Given the description of an element on the screen output the (x, y) to click on. 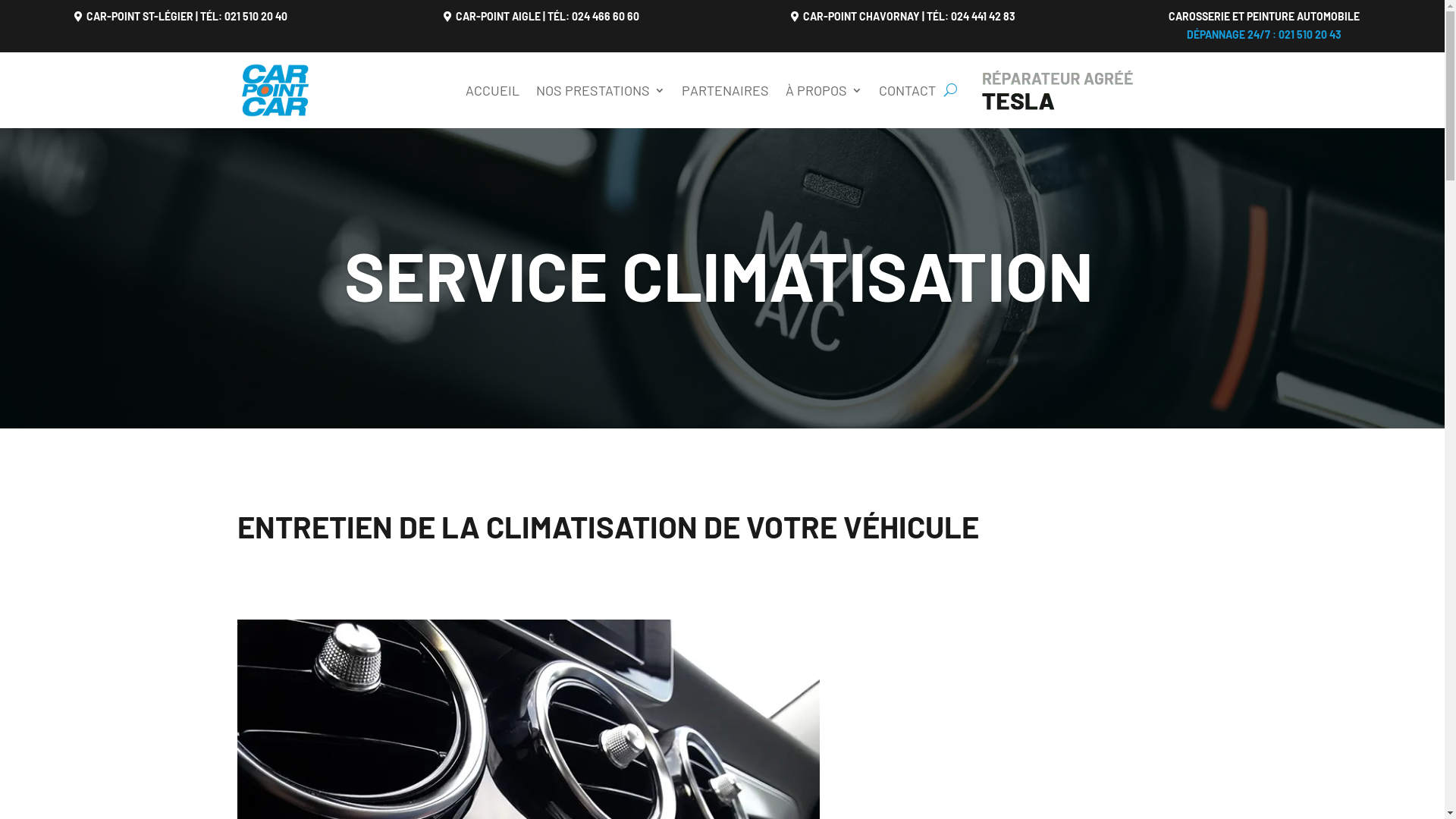
NOS PRESTATIONS Element type: text (599, 90)
PARTENAIRES Element type: text (724, 90)
reparateur-tesla Element type: hover (1056, 89)
CONTACT Element type: text (906, 90)
ACCUEIL Element type: text (492, 90)
